Given the description of an element on the screen output the (x, y) to click on. 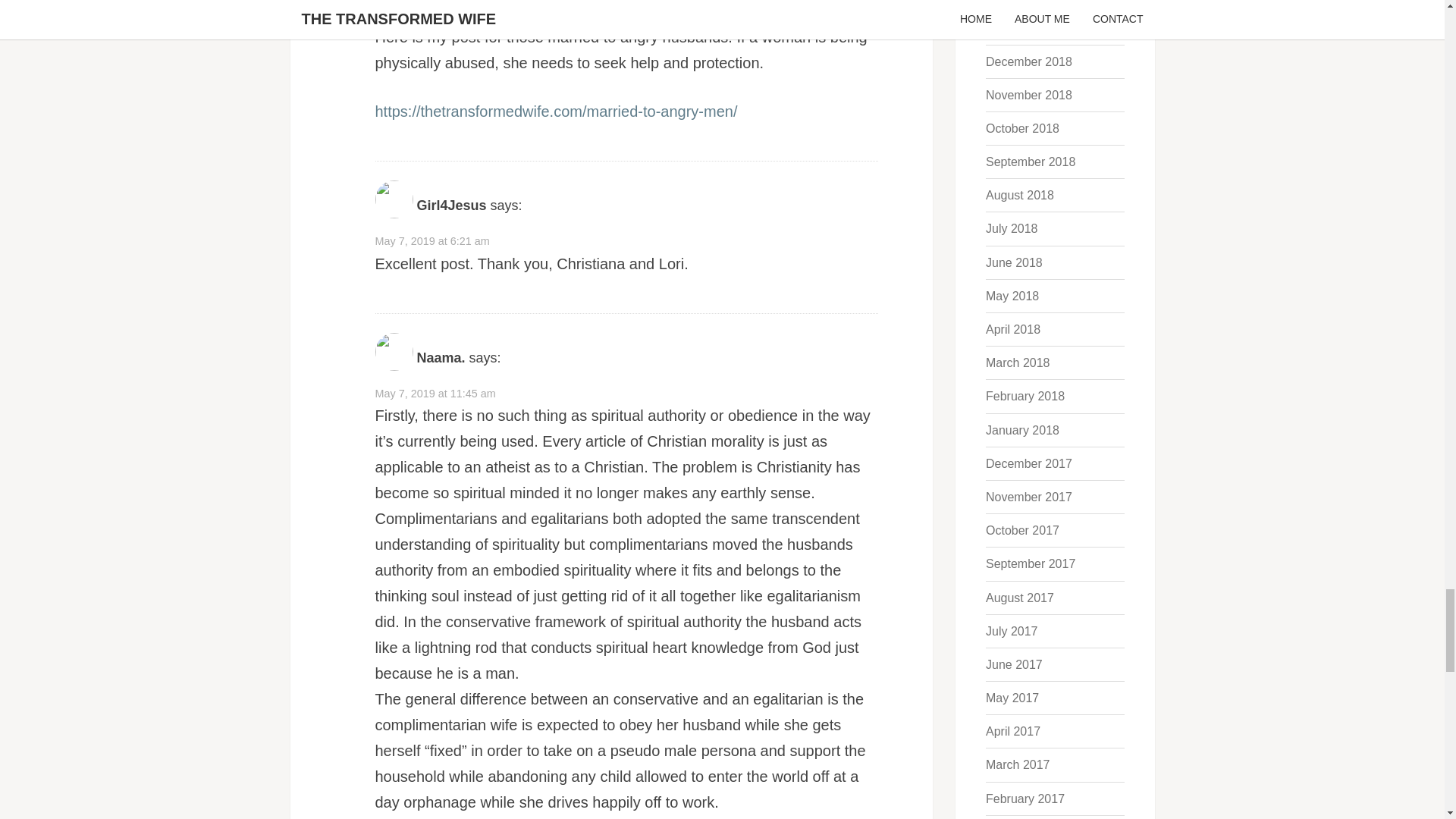
May 6, 2019 at 7:02 pm (431, 15)
May 7, 2019 at 11:45 am (434, 393)
May 7, 2019 at 6:21 am (431, 241)
